Given the description of an element on the screen output the (x, y) to click on. 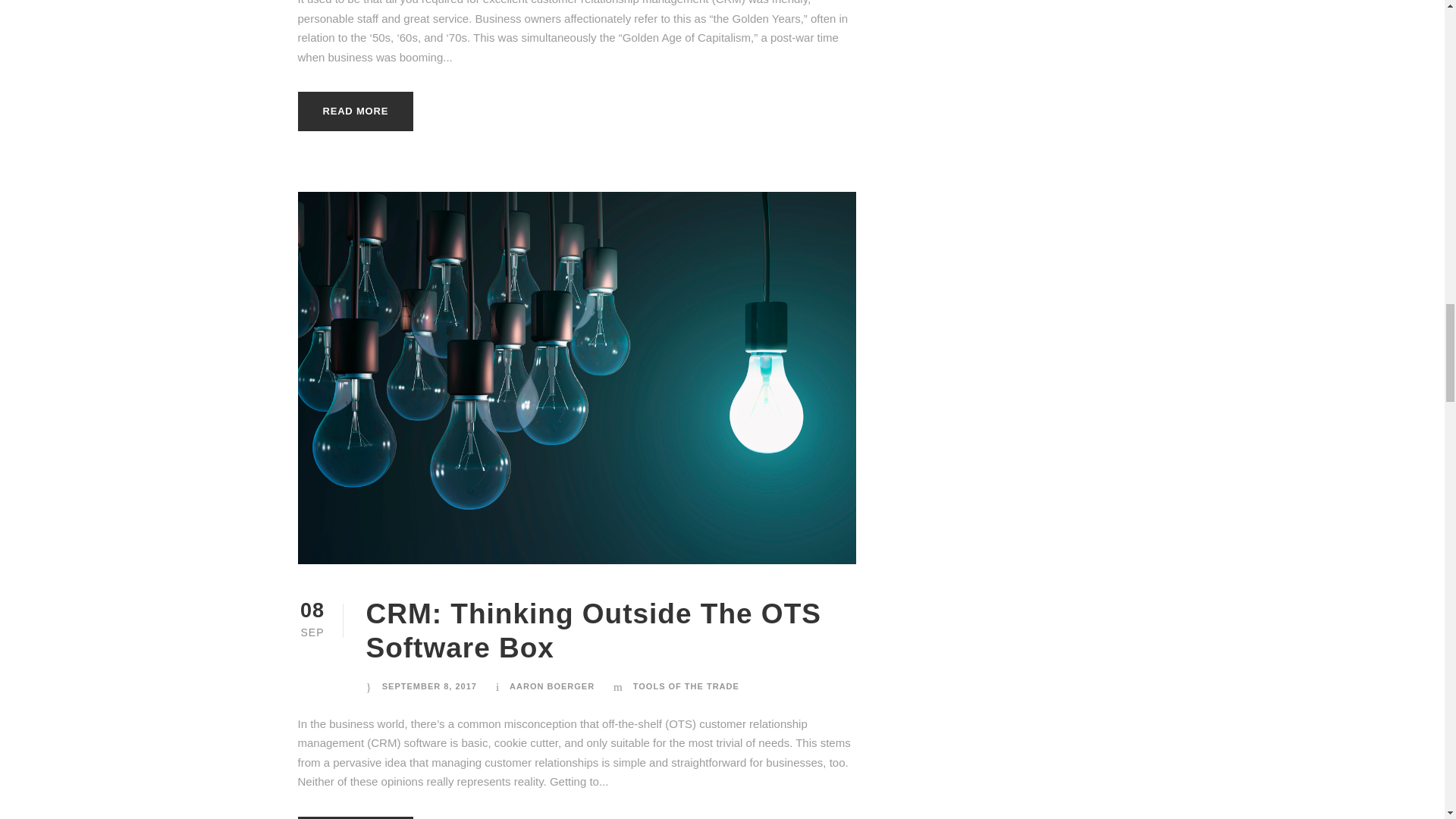
Posts by Aaron Boerger (551, 686)
